Given the description of an element on the screen output the (x, y) to click on. 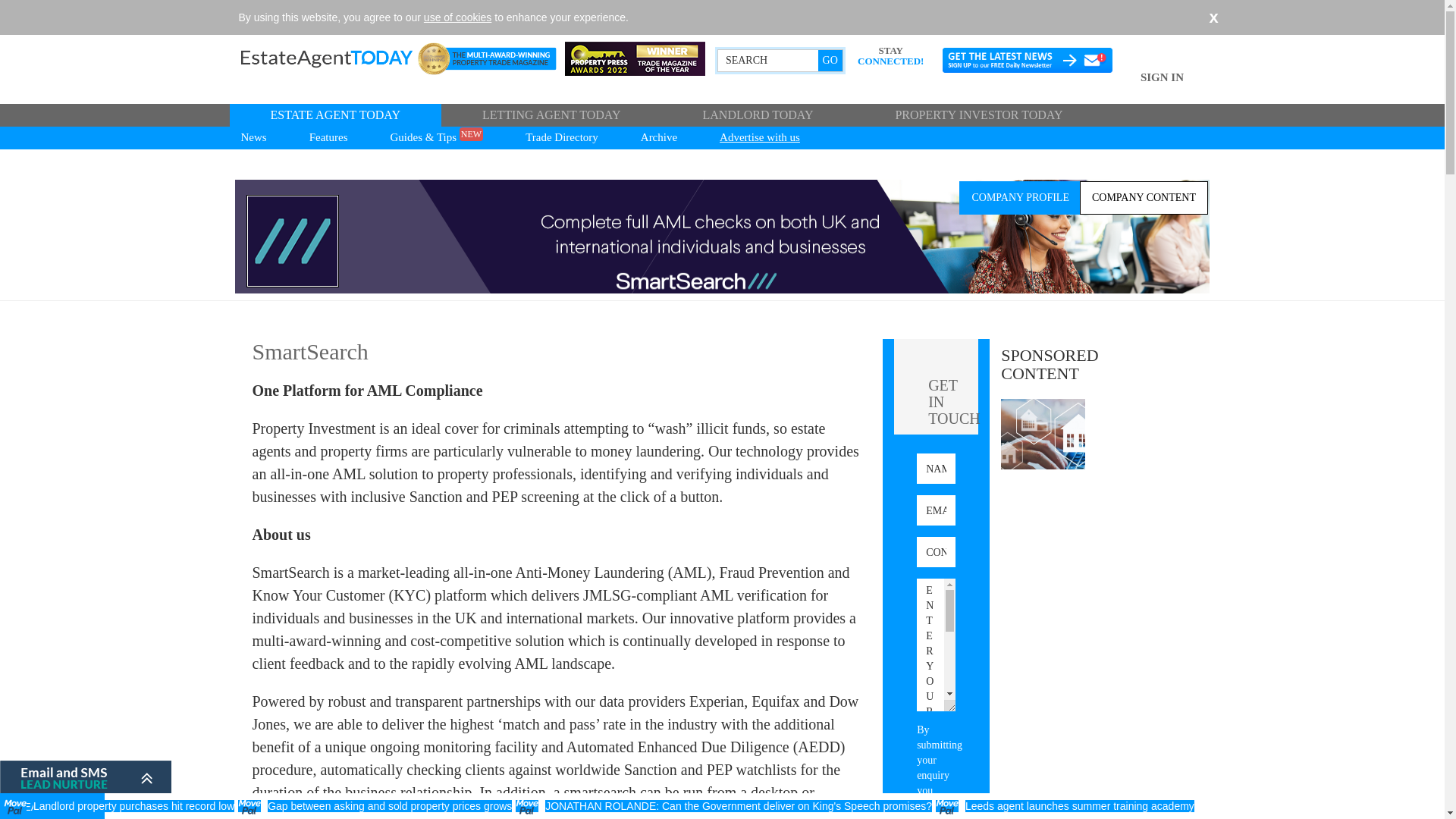
GO (830, 60)
Advertise with us (759, 137)
ESTATE AGENT TODAY (334, 115)
Trade Directory (561, 137)
LETTING AGENT TODAY (551, 115)
Archive (658, 137)
Features (328, 137)
Estate Agent Today (348, 58)
News (252, 137)
PROPERTY INVESTOR TODAY (978, 115)
GO (830, 60)
use of cookies (457, 17)
LANDLORD TODAY (757, 115)
SIGN IN (1161, 86)
